Given the description of an element on the screen output the (x, y) to click on. 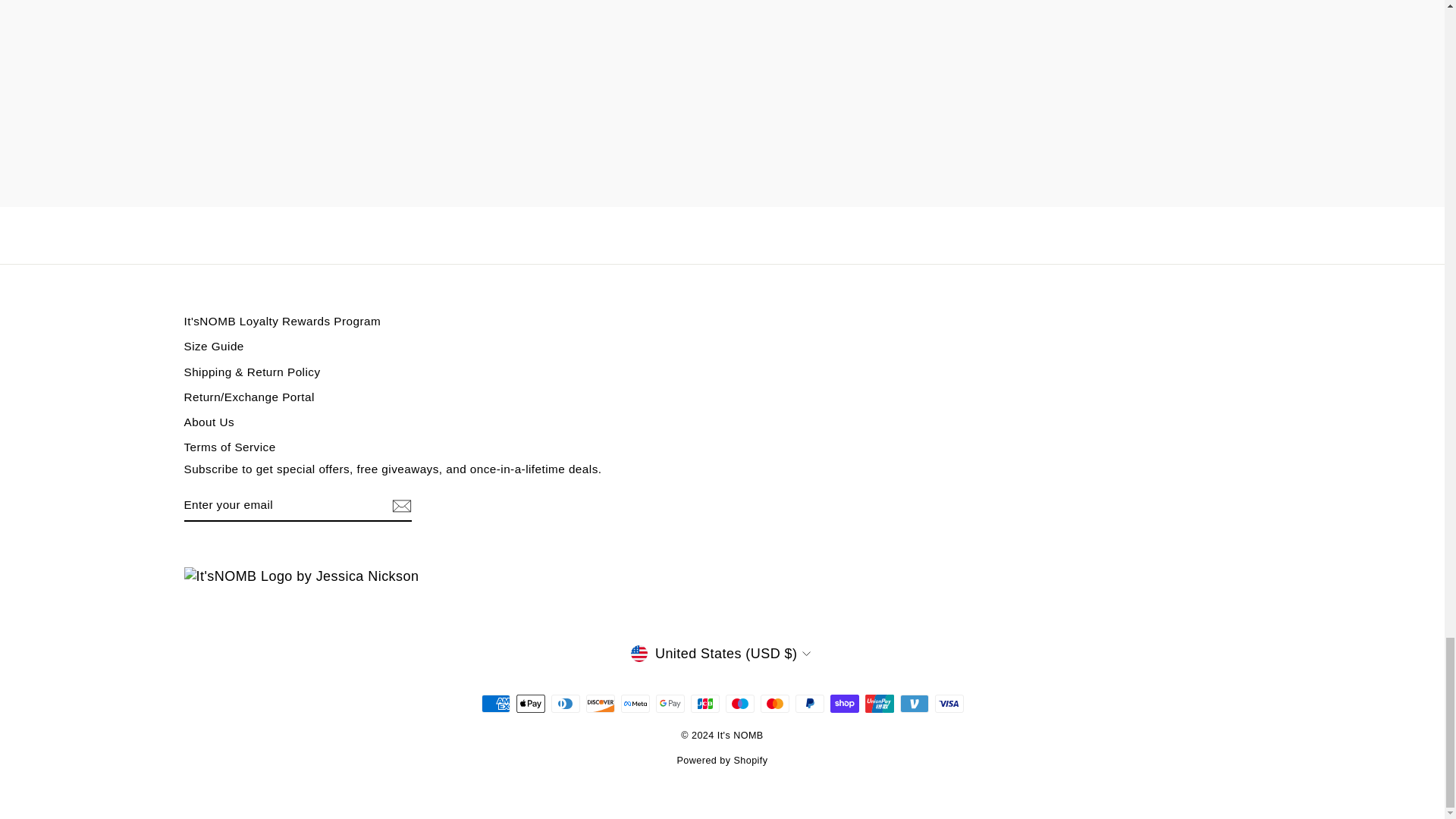
Apple Pay (529, 703)
Shop Pay (844, 703)
Diners Club (564, 703)
Google Pay (669, 703)
JCB (704, 703)
Discover (599, 703)
PayPal (809, 703)
Mastercard (774, 703)
Maestro (739, 703)
Union Pay (878, 703)
American Express (494, 703)
Meta Pay (634, 703)
